Given the description of an element on the screen output the (x, y) to click on. 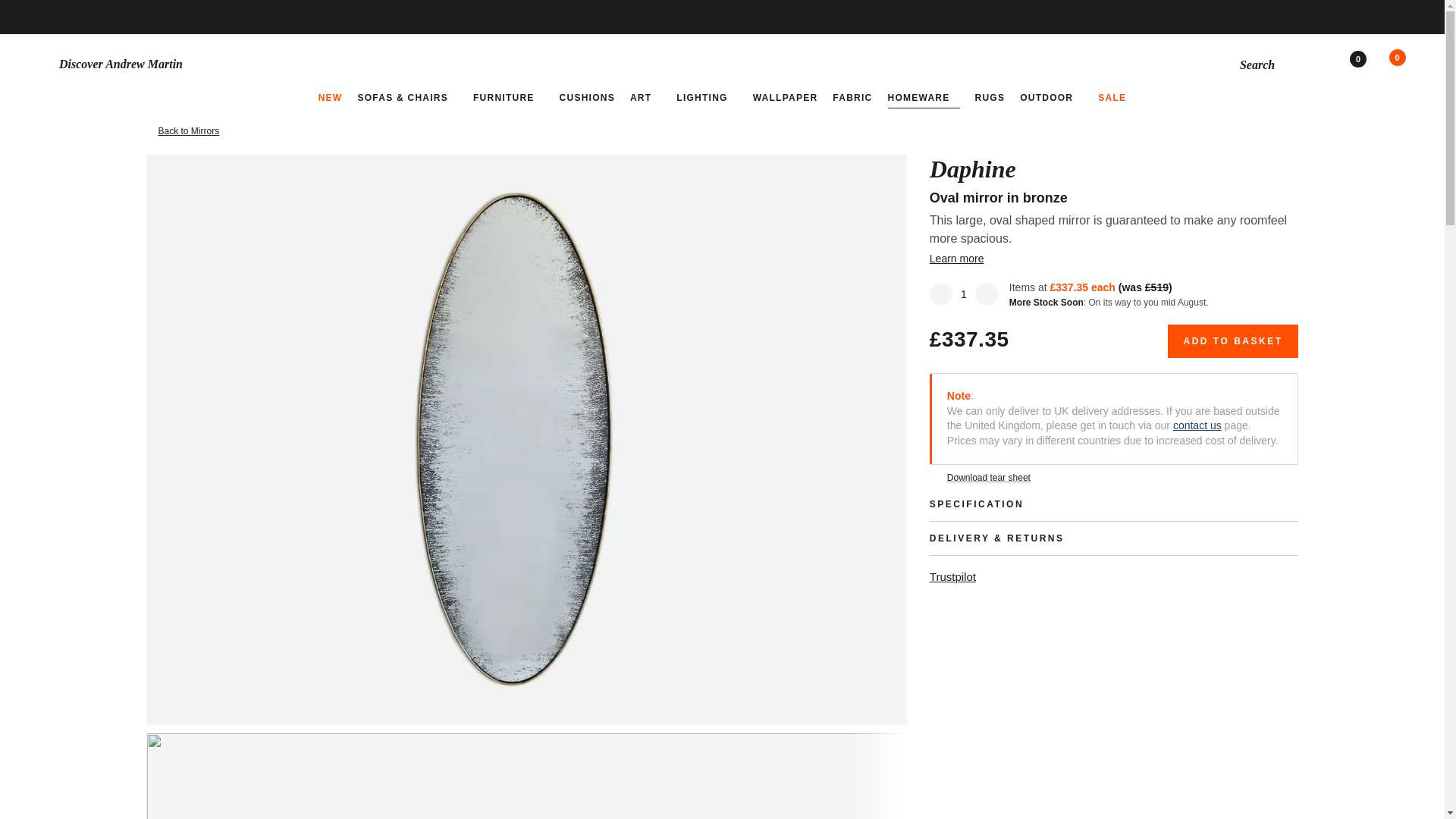
Discover Andrew Martin (261, 64)
0 (1368, 64)
0 (1405, 64)
1 (963, 293)
Search (1270, 64)
NEW (330, 97)
Learn more (962, 258)
FURNITURE (508, 97)
